Given the description of an element on the screen output the (x, y) to click on. 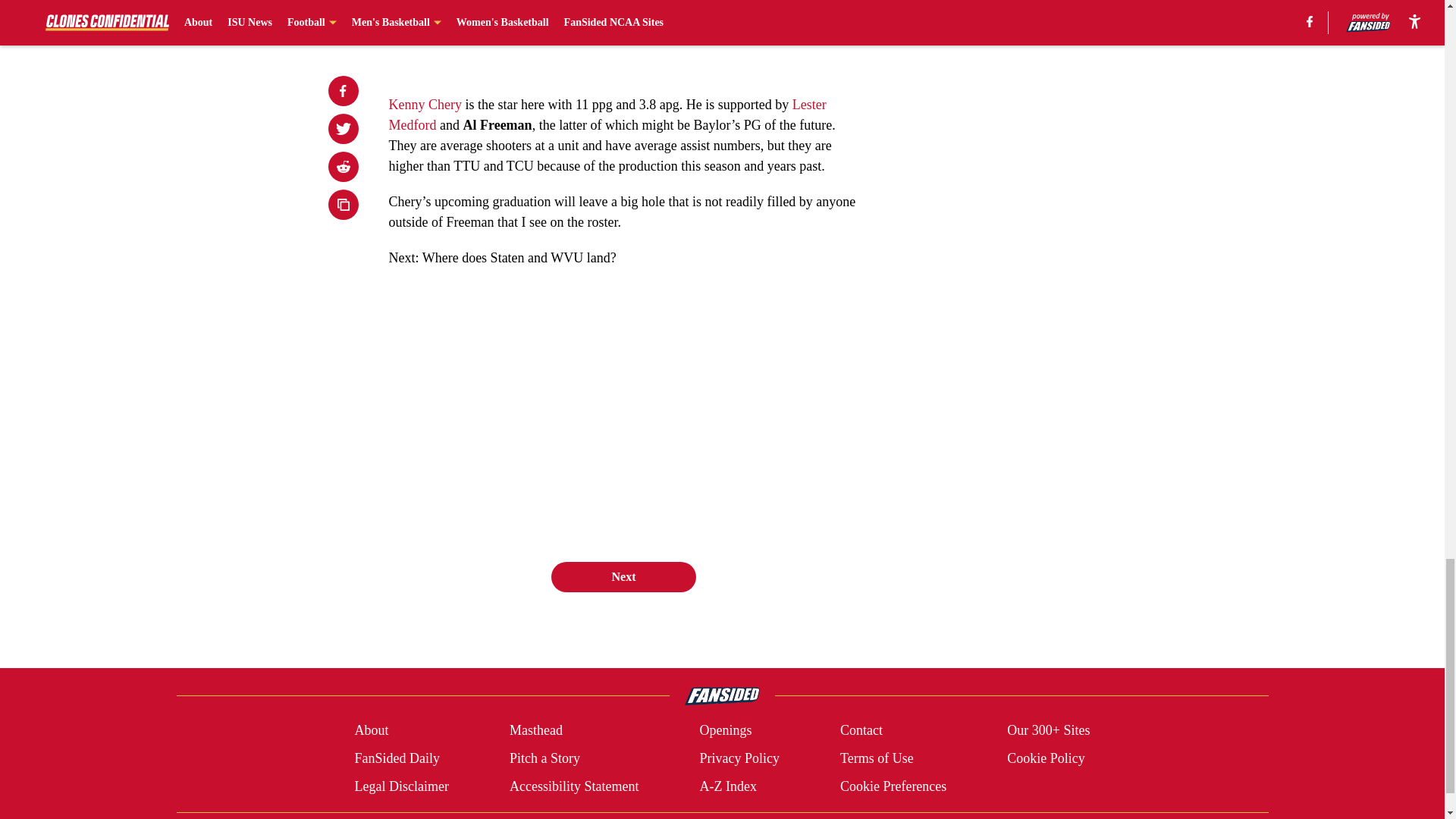
Contact (861, 730)
About (370, 730)
FanSided Daily (396, 758)
Next (622, 576)
Privacy Policy (738, 758)
Openings (724, 730)
Lester Medford (606, 114)
Pitch a Story (544, 758)
Kenny Chery (424, 104)
Legal Disclaimer (400, 786)
